Given the description of an element on the screen output the (x, y) to click on. 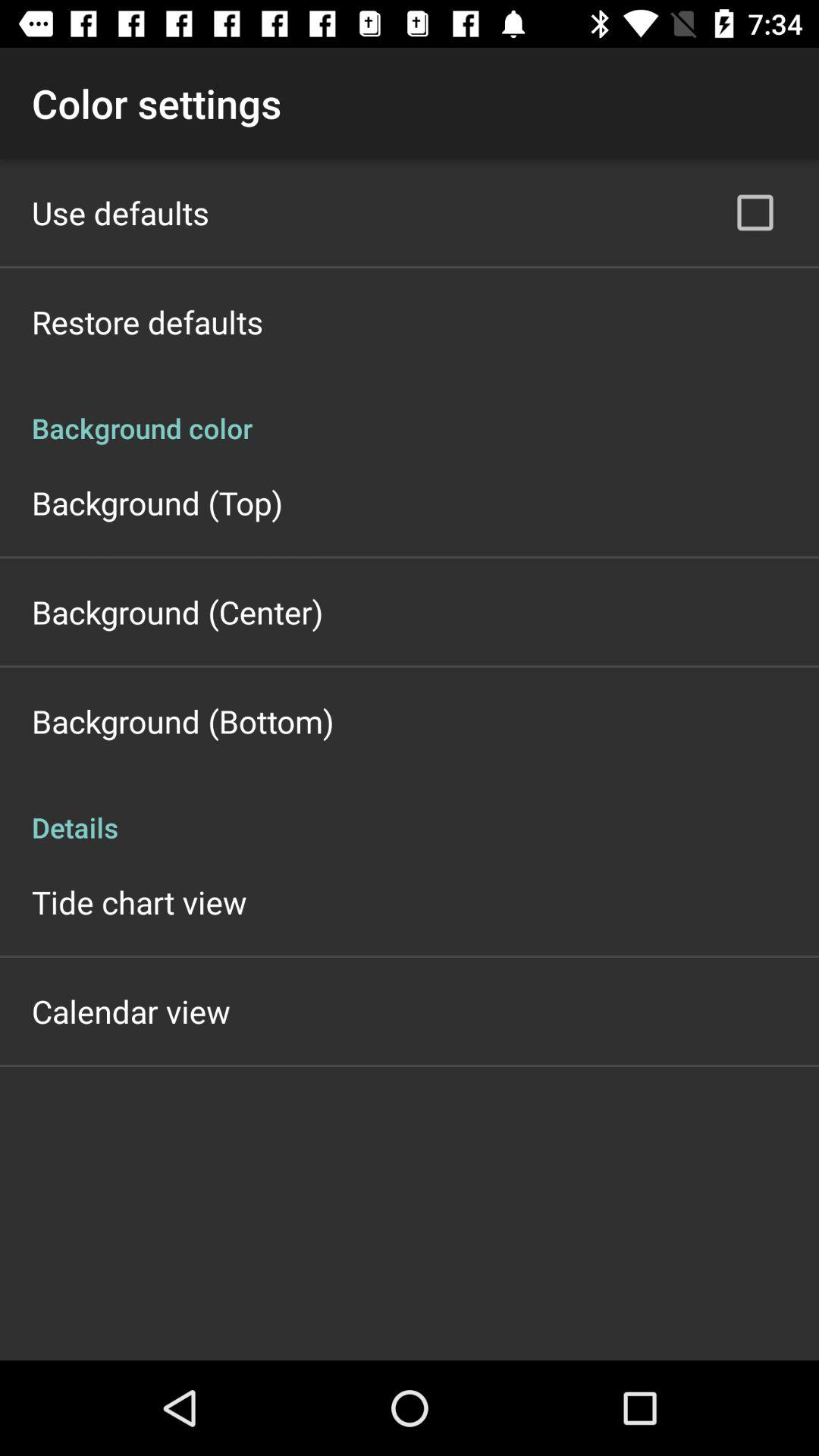
press icon below details icon (138, 901)
